Given the description of an element on the screen output the (x, y) to click on. 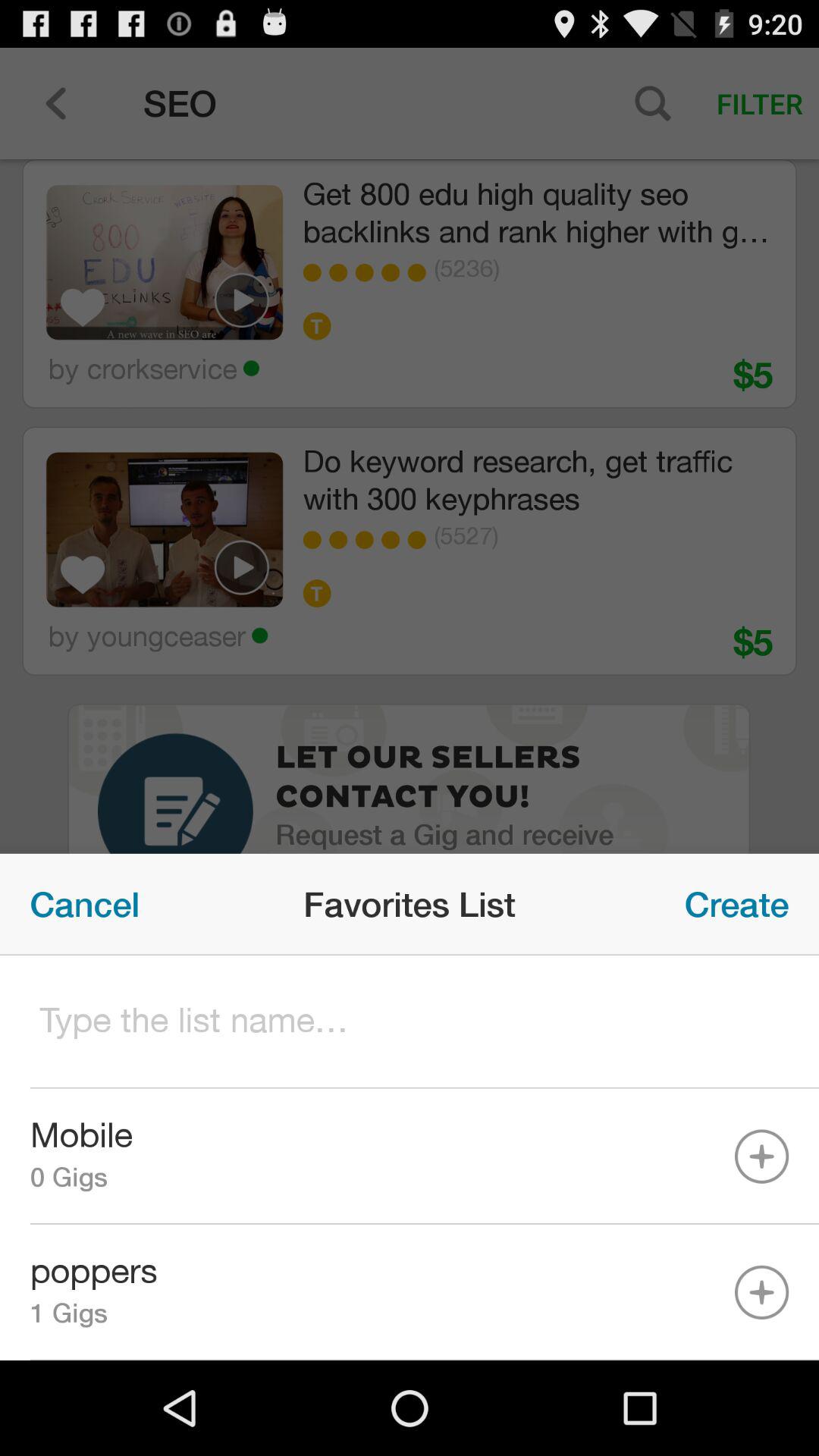
open item to the left of the favorites list icon (84, 903)
